Given the description of an element on the screen output the (x, y) to click on. 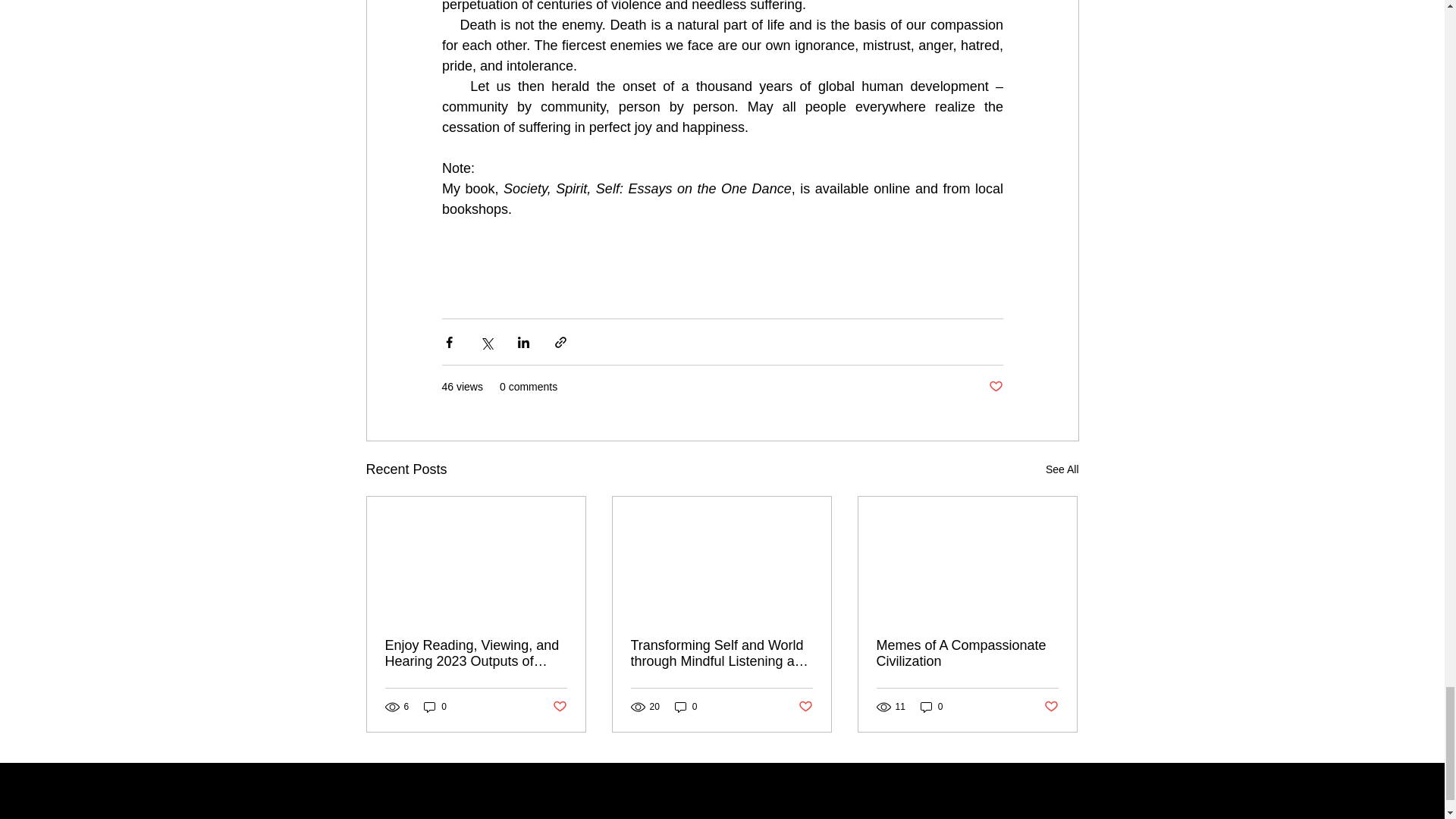
0 (435, 707)
Memes of A Compassionate Civilization (967, 653)
See All (1061, 469)
Post not marked as liked (804, 706)
0 (685, 707)
Post not marked as liked (995, 386)
Post not marked as liked (558, 706)
0 (931, 707)
Post not marked as liked (1050, 706)
